Given the description of an element on the screen output the (x, y) to click on. 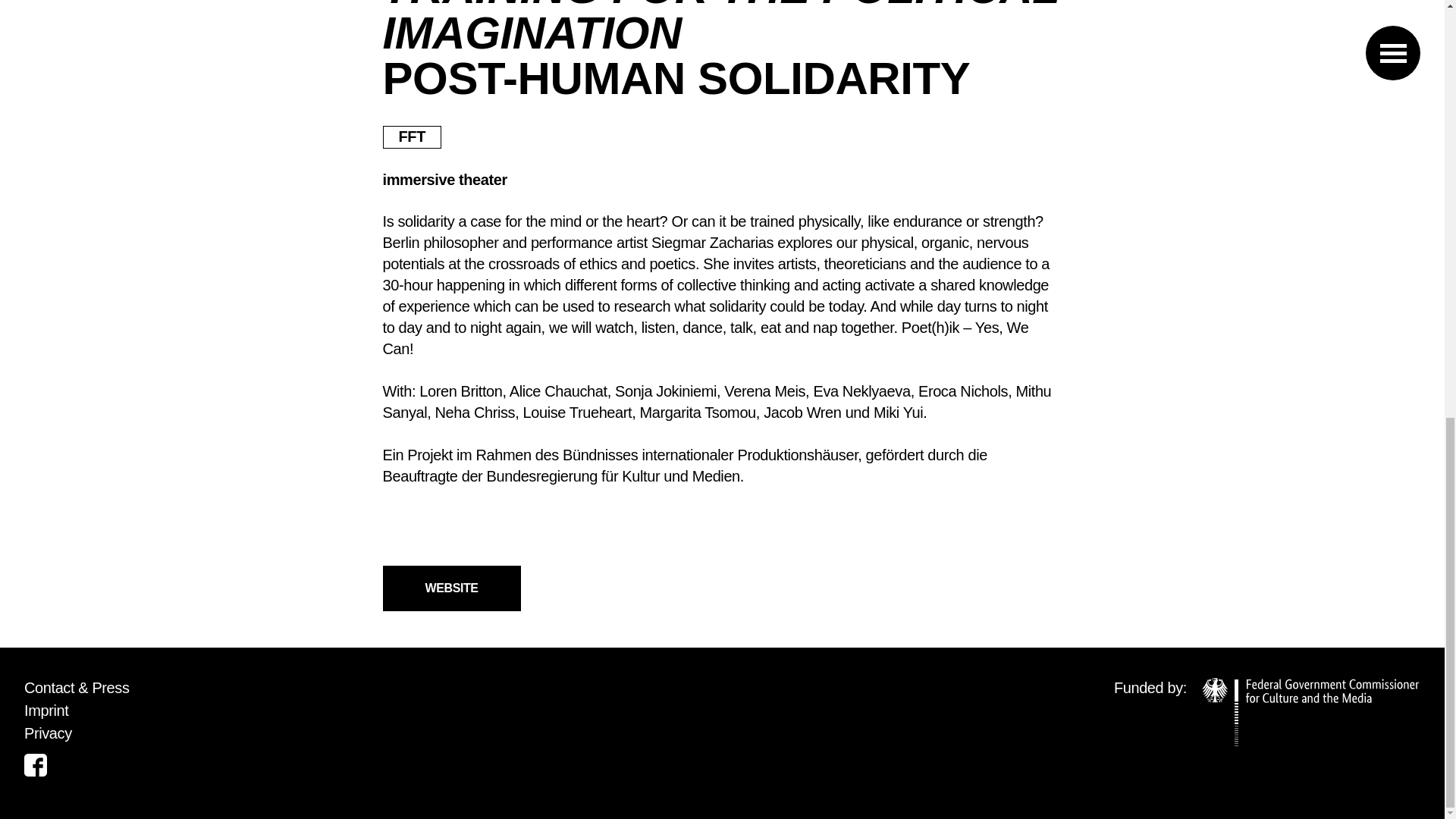
Imprint (46, 710)
Privacy (47, 733)
FFT (411, 137)
Facebook (35, 764)
WEBSITE (450, 588)
